Given the description of an element on the screen output the (x, y) to click on. 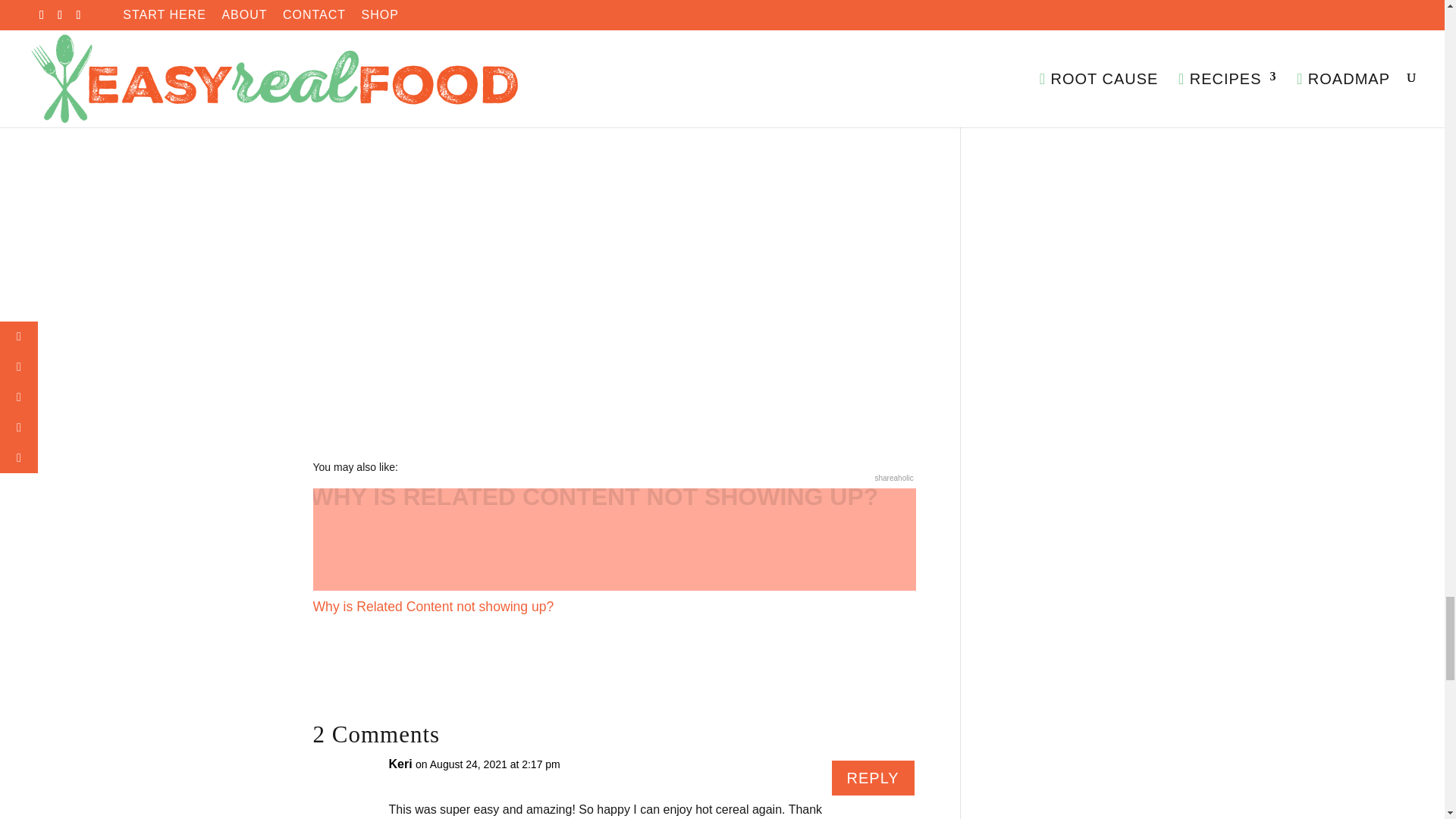
Website Tools by Shareaholic (894, 478)
Why is Related Content not showing up? (614, 551)
